Given the description of an element on the screen output the (x, y) to click on. 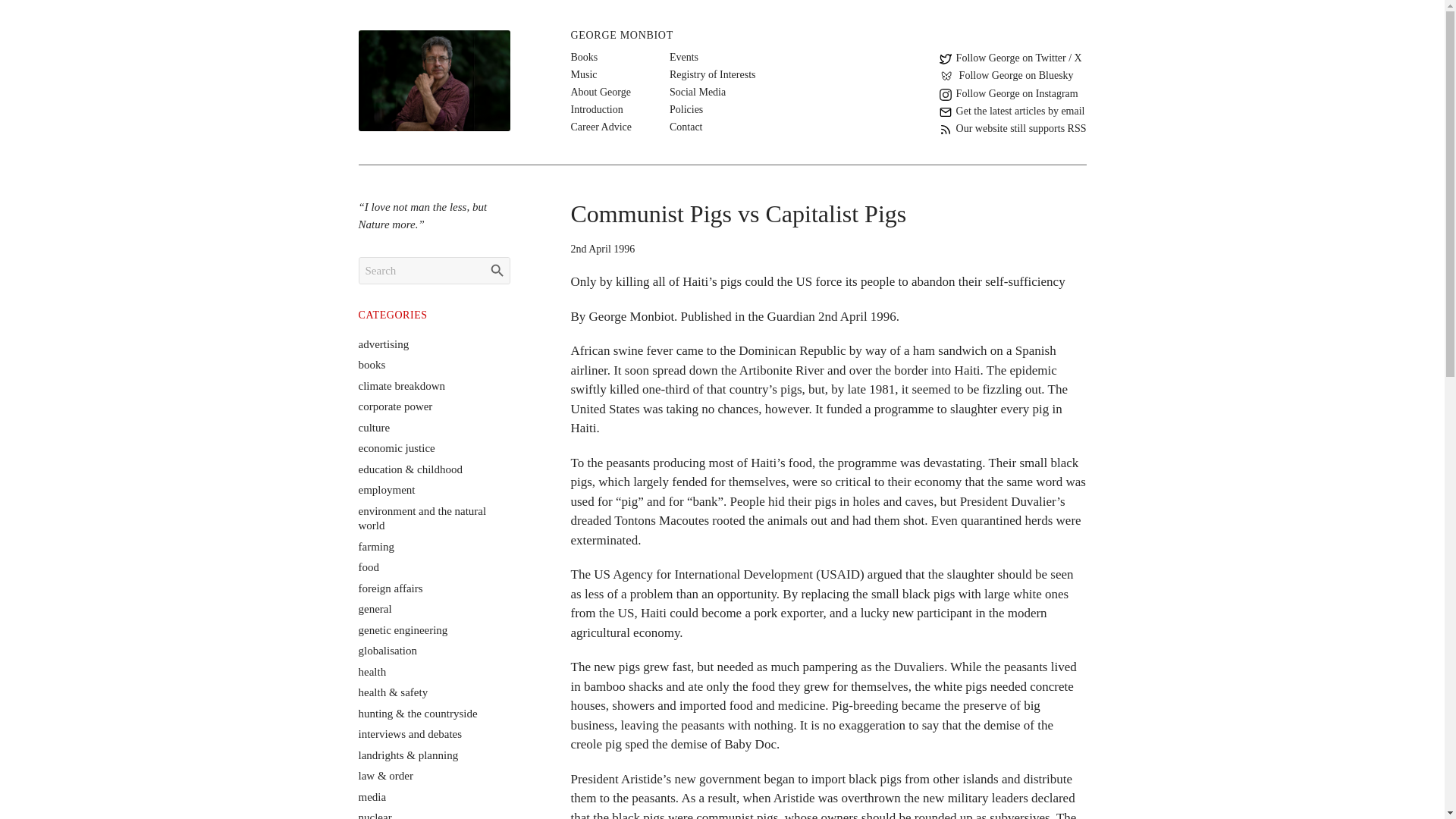
Social Media (697, 91)
interviews and debates (409, 734)
economic justice (395, 448)
Books (583, 57)
general (374, 608)
Policies (686, 109)
globalisation (387, 650)
books (371, 364)
climate breakdown (401, 385)
health (371, 671)
